Given the description of an element on the screen output the (x, y) to click on. 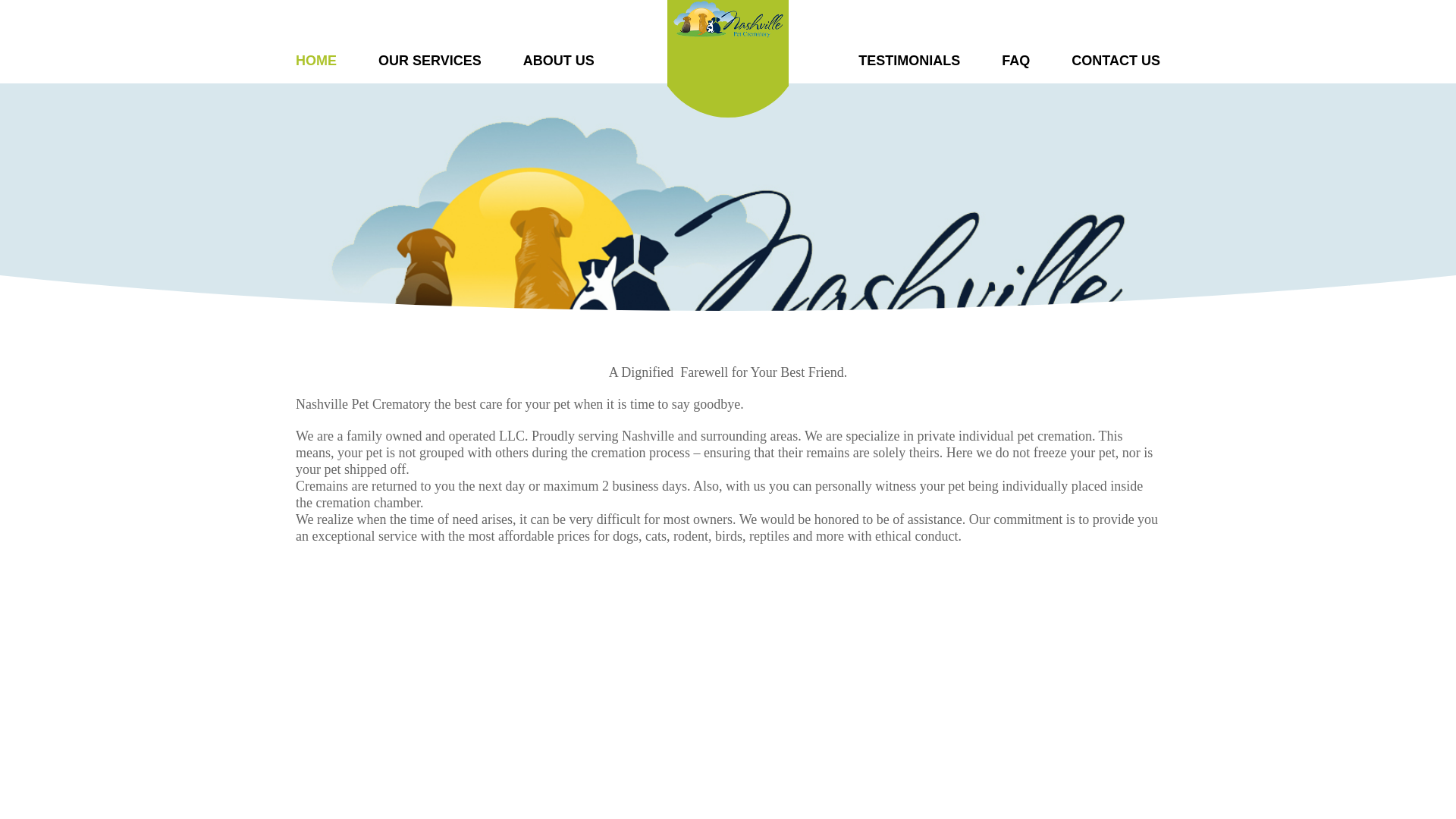
Contact Us (1115, 60)
CONTACT US (1115, 60)
TESTIMONIALS (909, 60)
OUR SERVICES (429, 60)
About Us (558, 60)
HOME (315, 60)
Our Services (429, 60)
Home (315, 60)
ABOUT US (558, 60)
Testimonials (909, 60)
